Given the description of an element on the screen output the (x, y) to click on. 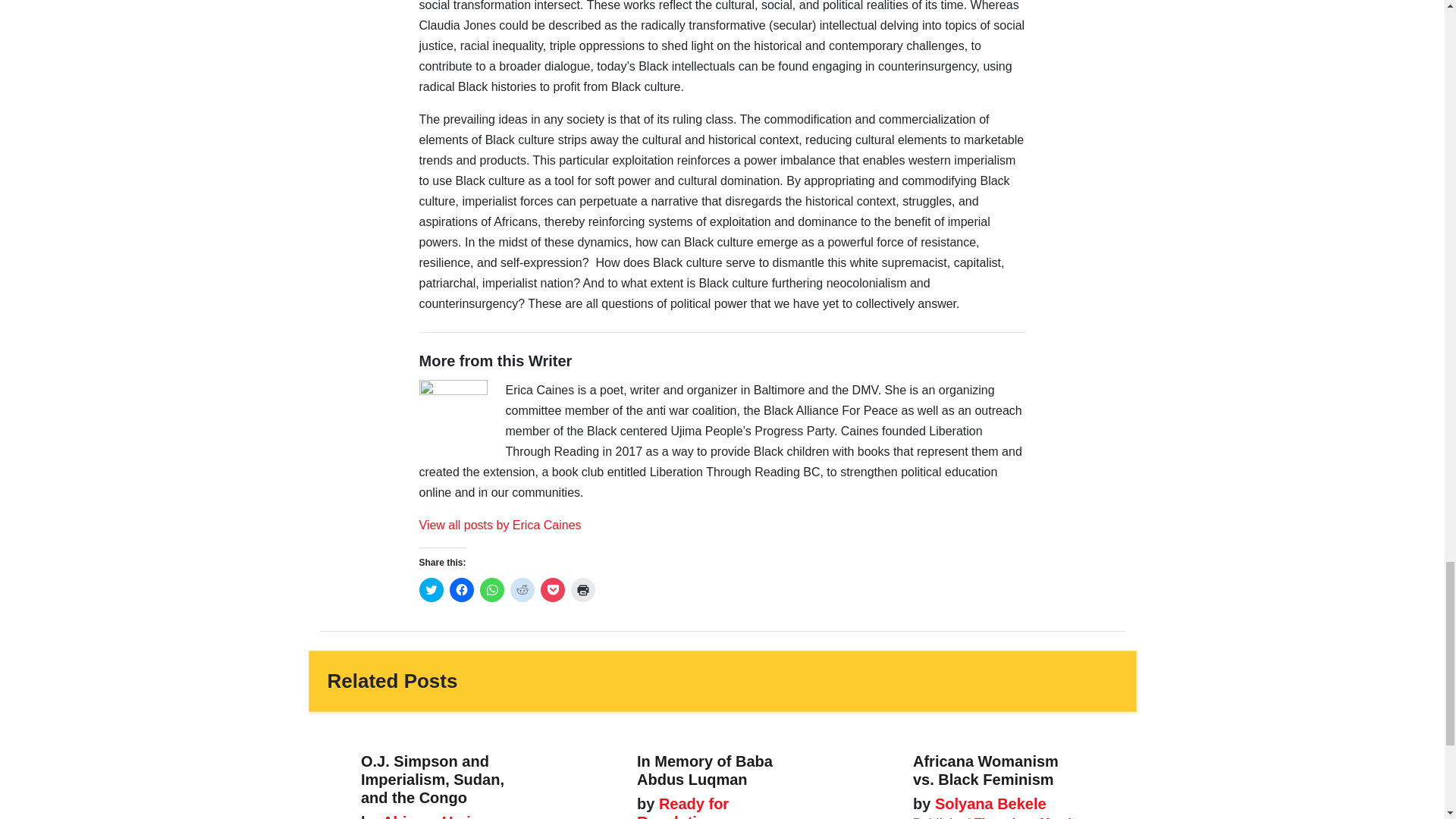
Solyana Bekele (987, 803)
Ahjamu Umi (424, 816)
Ready for Revolution (683, 807)
Africana Womanism vs. Black Feminism (985, 769)
Thursday - March 12, 2021 (993, 817)
View all posts by Erica Caines (499, 524)
O.J. Simpson and Imperialism, Sudan, and the Congo (432, 778)
In Memory of Baba Abdus Luqman (705, 769)
